Given the description of an element on the screen output the (x, y) to click on. 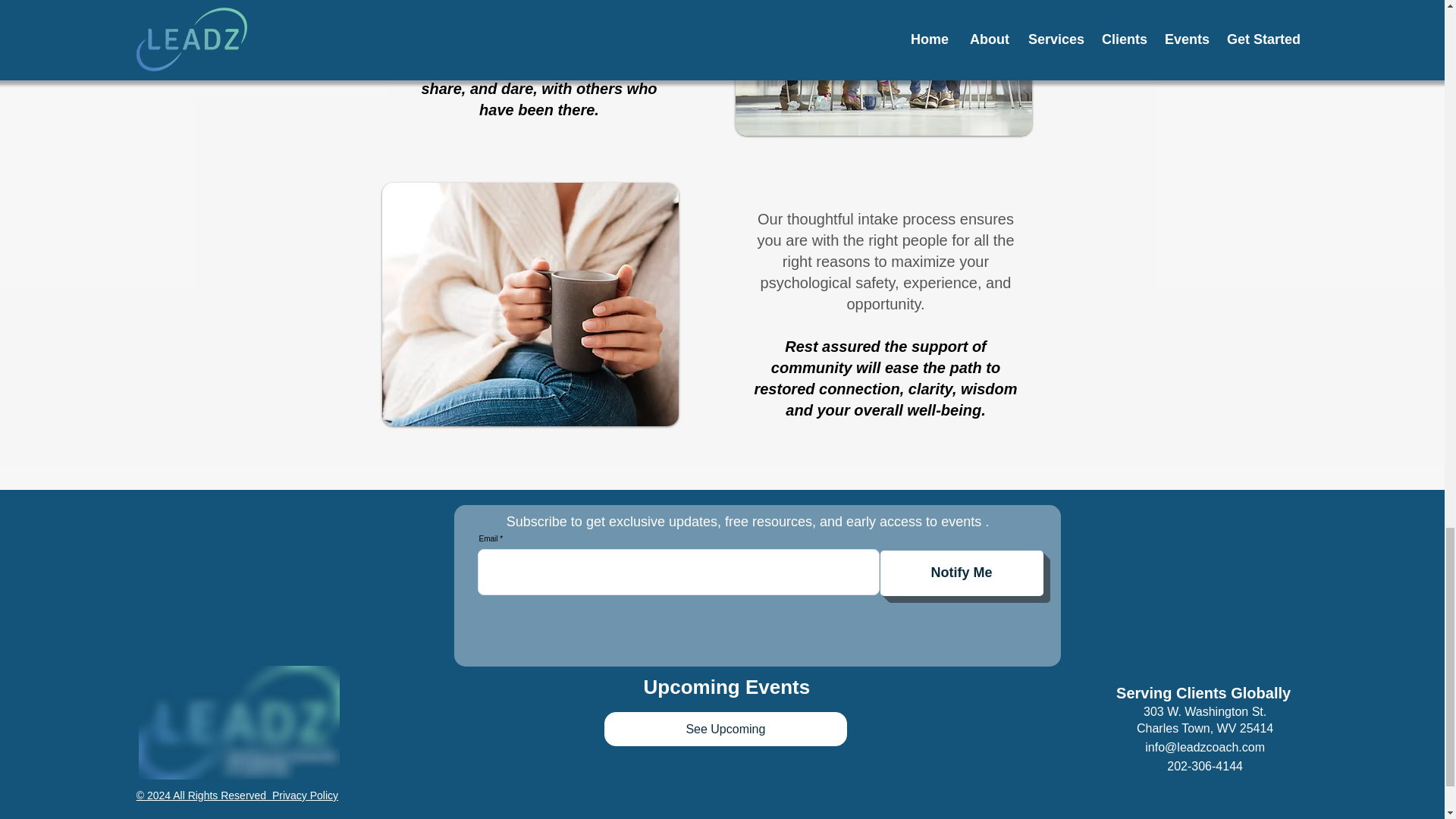
202-306-4144 (1205, 766)
Privacy Policy (304, 795)
Notify Me (960, 573)
See Upcoming (725, 728)
